Given the description of an element on the screen output the (x, y) to click on. 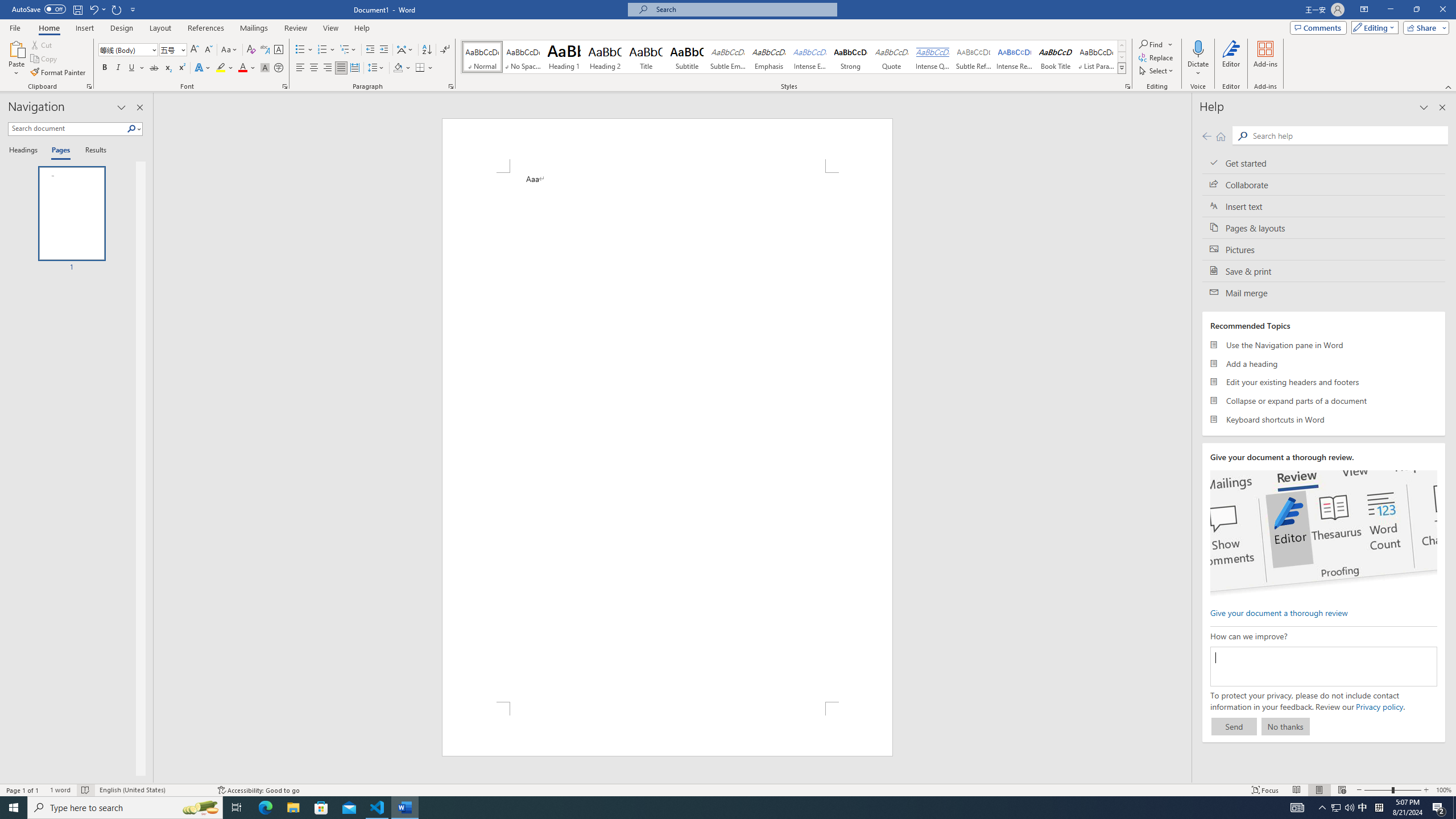
Emphasis (768, 56)
Styles (1121, 67)
Comments (1318, 27)
AutoSave (38, 9)
Select (1157, 69)
Zoom Out (1377, 790)
Pages & layouts (1323, 228)
Help (361, 28)
Use the Navigation pane in Word (1323, 344)
Text Effects and Typography (202, 67)
Line and Paragraph Spacing (376, 67)
Borders (419, 67)
Previous page (1206, 136)
Clear Formatting (250, 49)
Styles... (1127, 85)
